Given the description of an element on the screen output the (x, y) to click on. 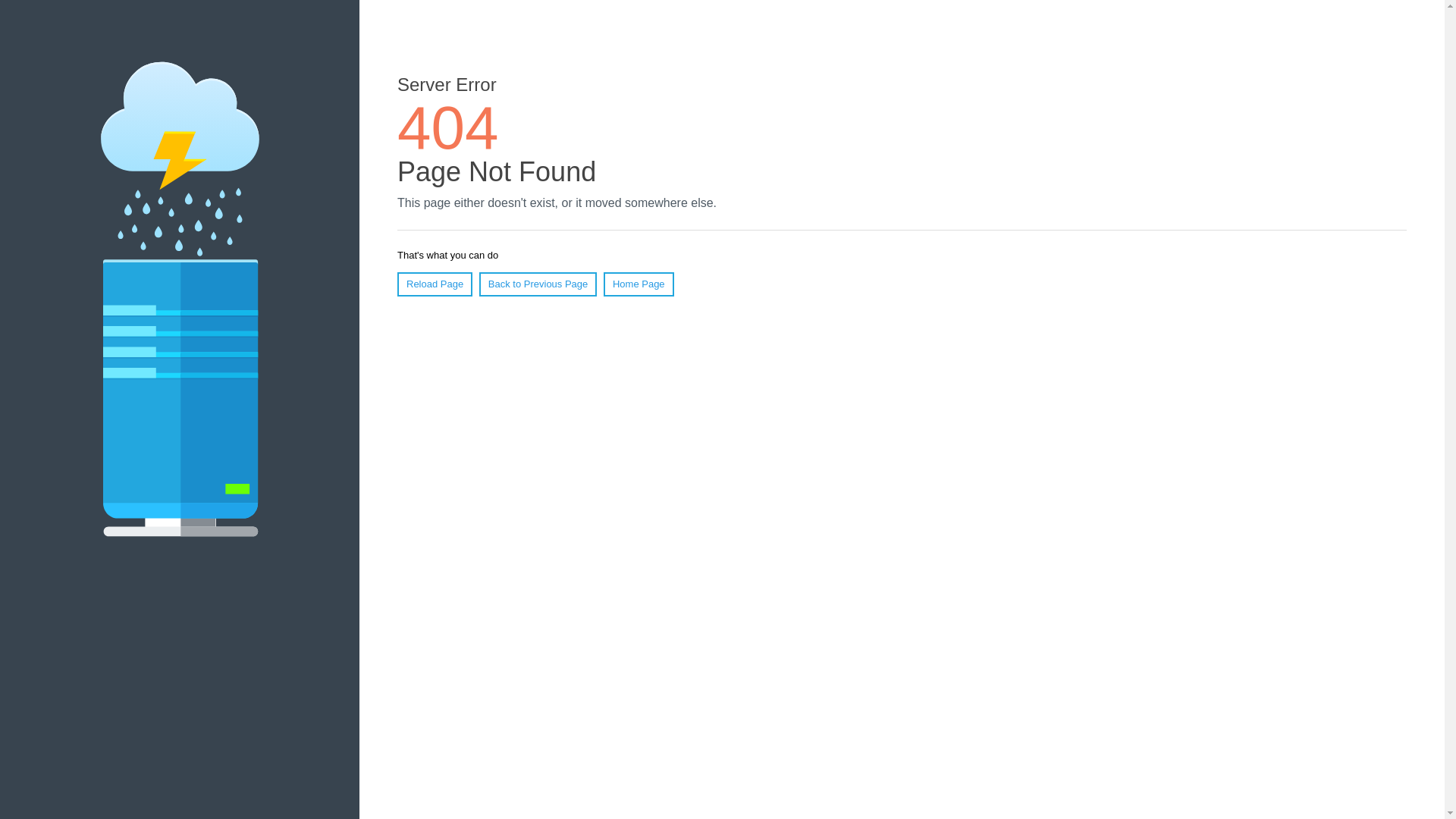
Home Page Element type: text (638, 284)
Reload Page Element type: text (434, 284)
Back to Previous Page Element type: text (538, 284)
